Given the description of an element on the screen output the (x, y) to click on. 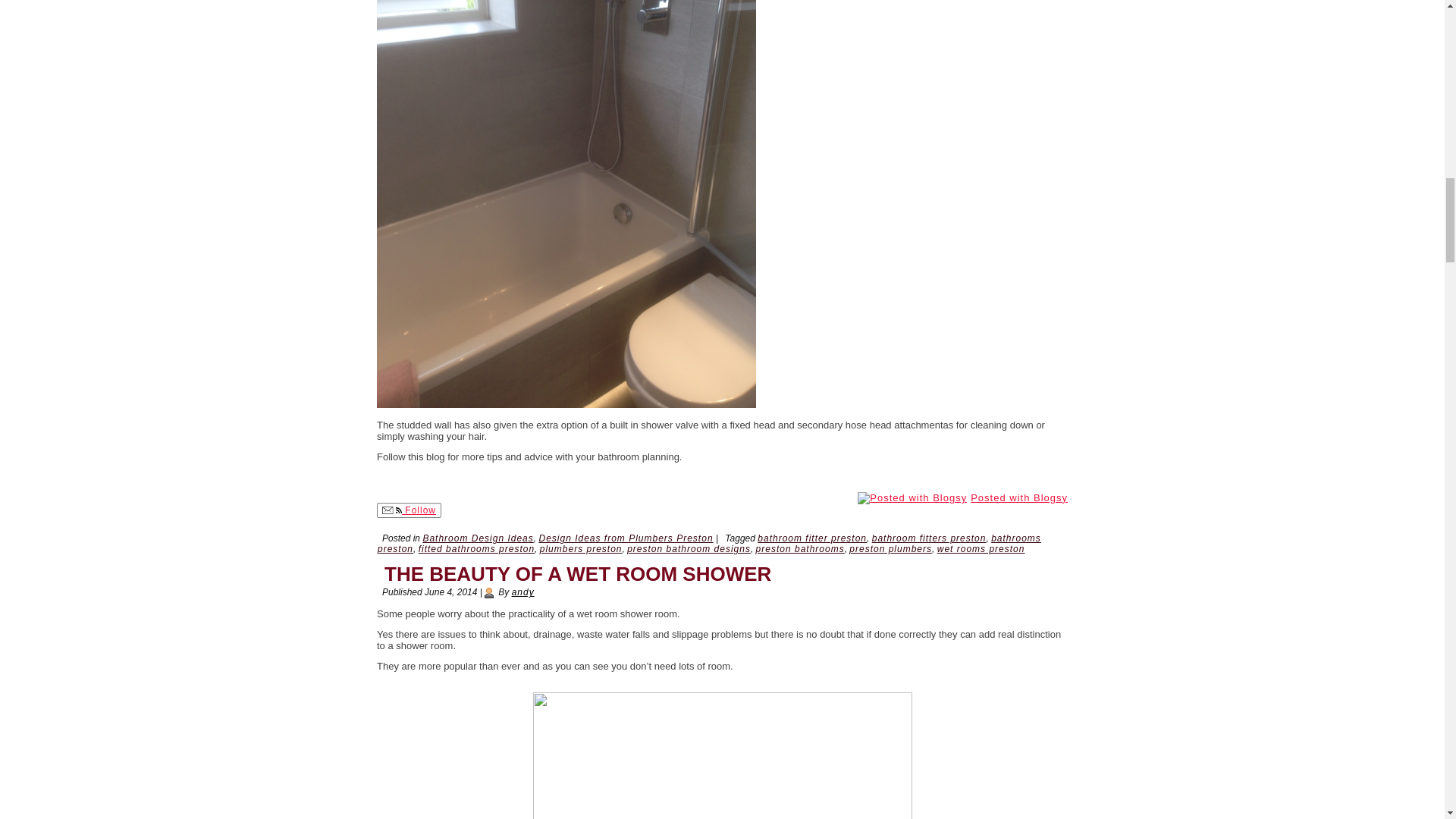
Follow (409, 509)
Email, RSS (391, 511)
bathroom fitters preston (929, 538)
THE BEAUTY OF A WET ROOM SHOWER (577, 573)
Michael Lowe bathrooms (566, 404)
bathrooms preston (709, 543)
Wet rooms Michael Lowe Bathrooms (722, 755)
andy (523, 592)
preston bathrooms (799, 548)
6:55 pm (451, 592)
View all posts by andy (523, 592)
The beauty of a wet room shower (577, 573)
fitted bathrooms preston (476, 548)
Bathroom Design Ideas (477, 538)
bathroom fitter preston (811, 538)
